Given the description of an element on the screen output the (x, y) to click on. 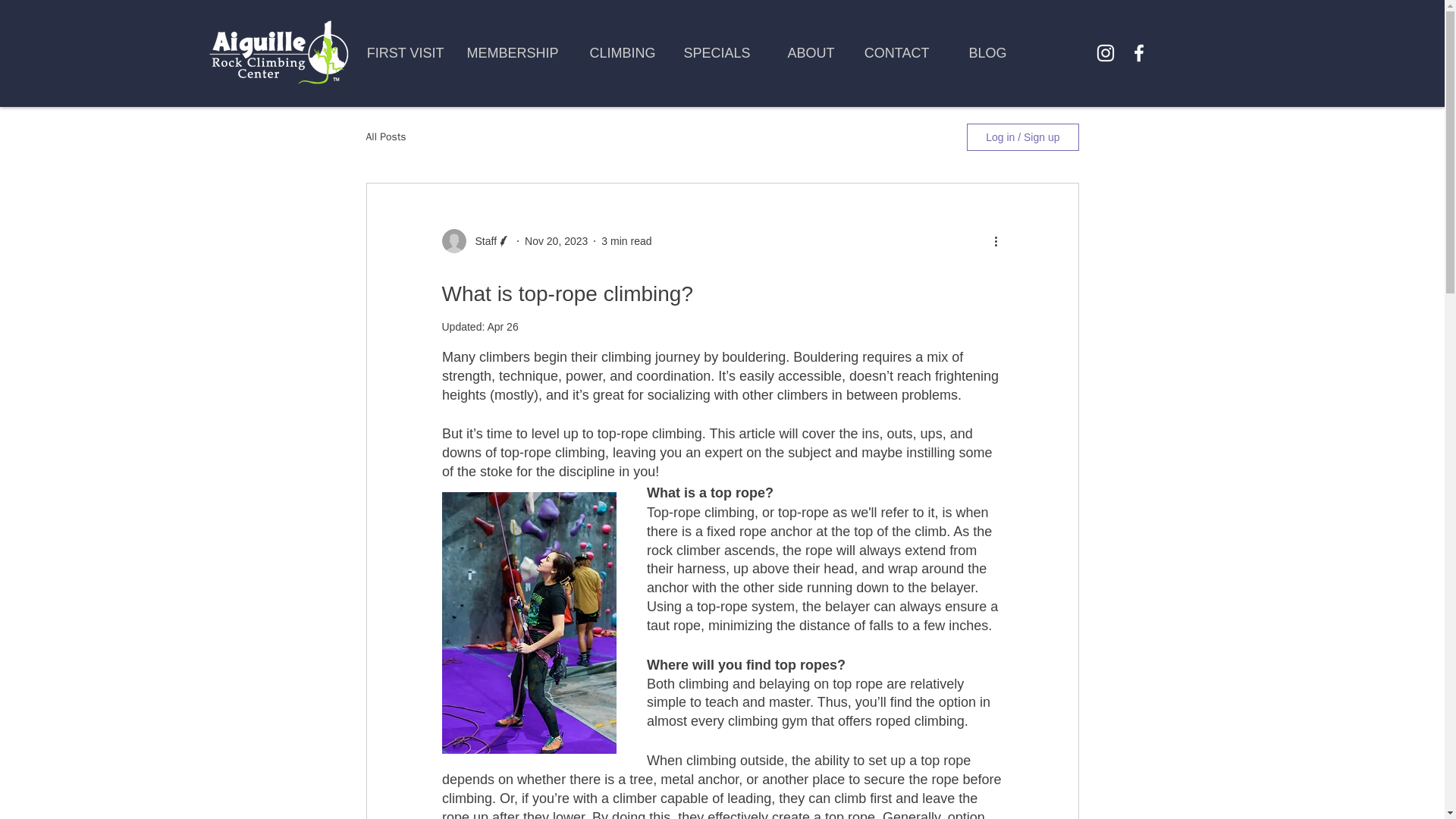
BLOG (978, 52)
All Posts (385, 137)
ABOUT (803, 52)
Apr 26 (502, 326)
FIRST VISIT (402, 52)
CONTACT (892, 52)
3 min read (625, 241)
MEMBERSHIP (510, 52)
CLIMBING (617, 52)
Nov 20, 2023 (556, 241)
Staff (480, 241)
